Given the description of an element on the screen output the (x, y) to click on. 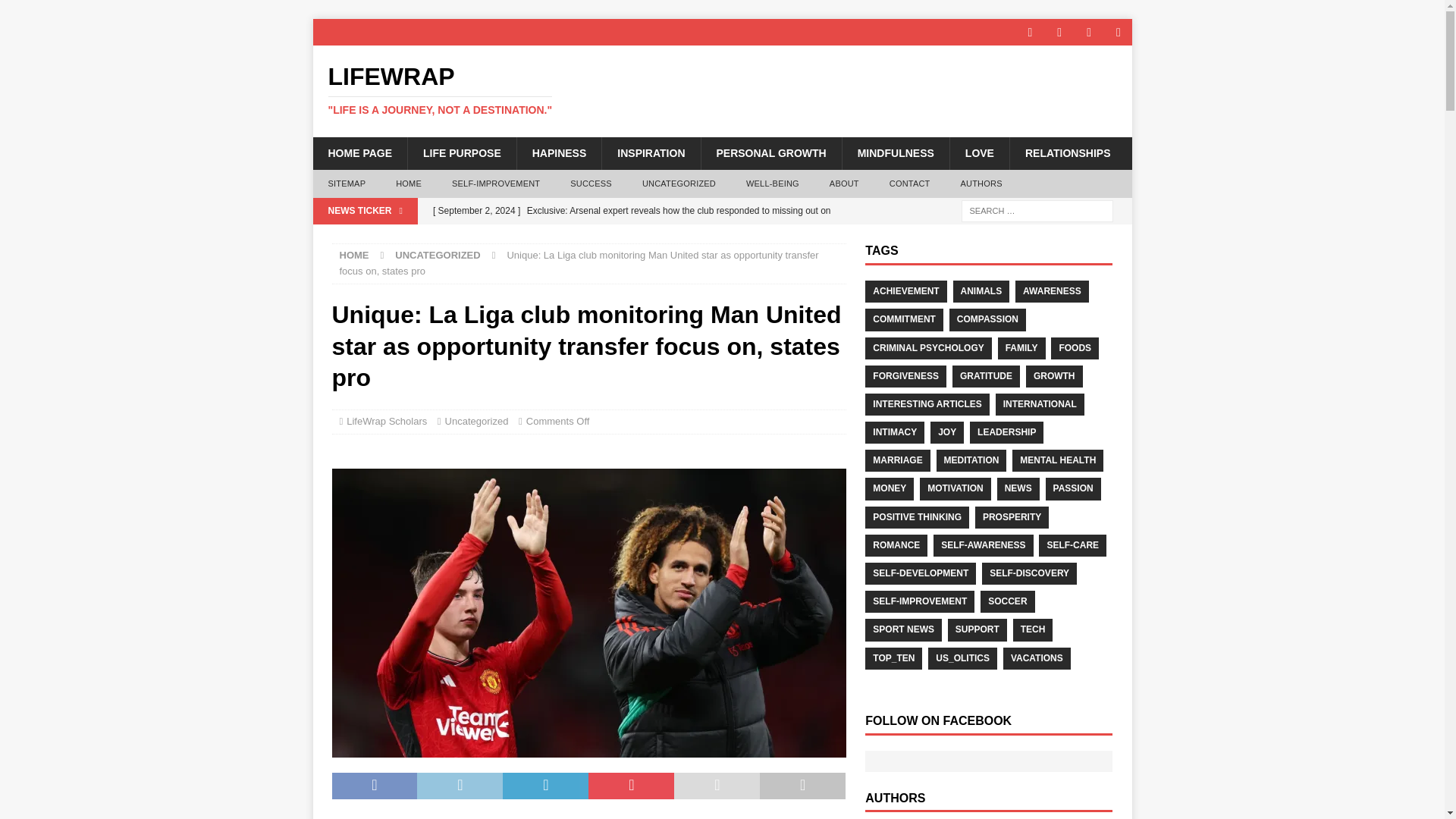
Search (56, 11)
RELATIONSHIPS (1067, 152)
LIFE PURPOSE (461, 152)
CONTACT (909, 184)
ABOUT (844, 184)
UNCATEGORIZED (437, 255)
MINDFULNESS (895, 152)
SITEMAP (346, 184)
LifeWrap Scholars (386, 420)
